Given the description of an element on the screen output the (x, y) to click on. 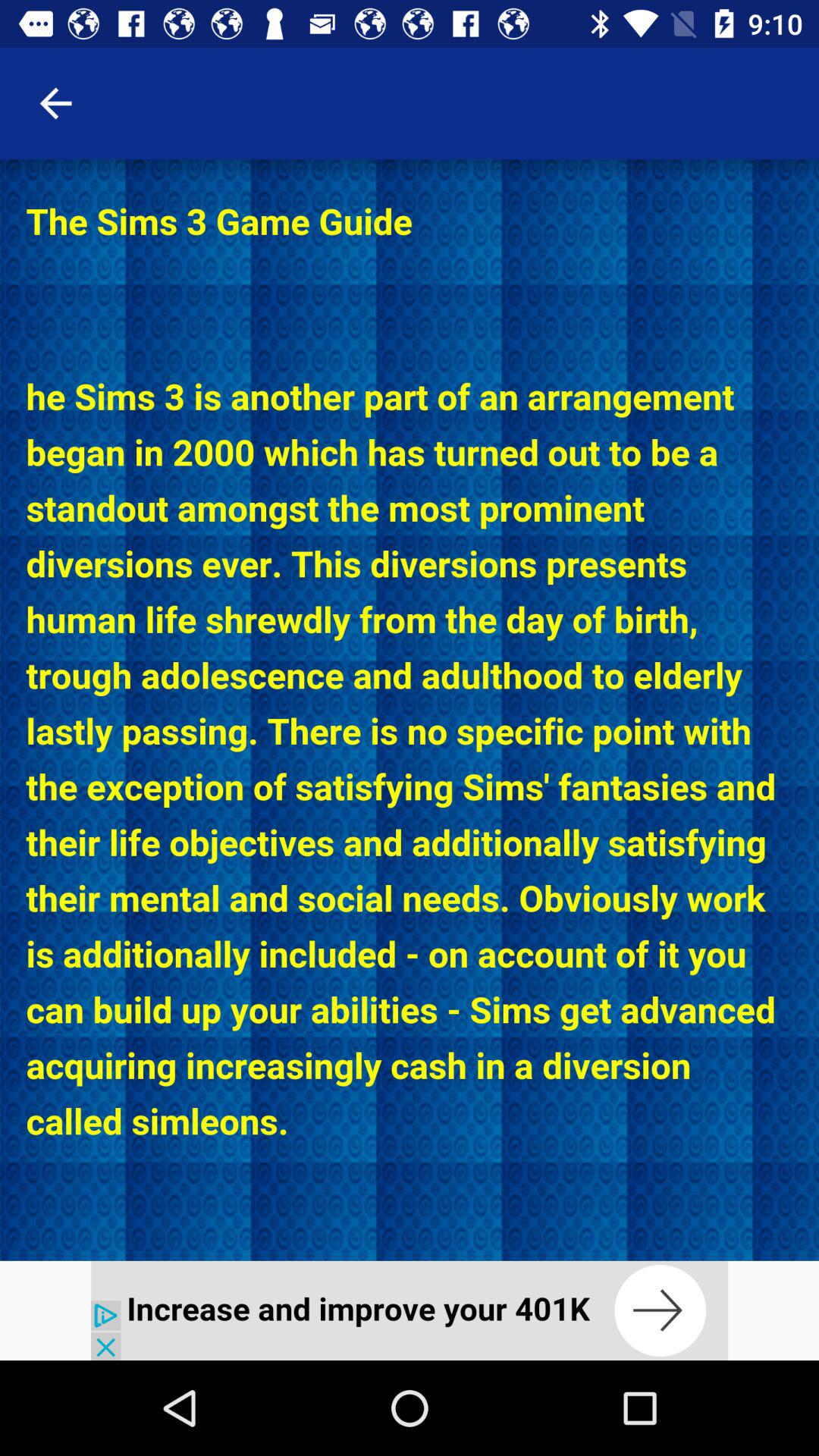
interact with advertisement (409, 1310)
